Given the description of an element on the screen output the (x, y) to click on. 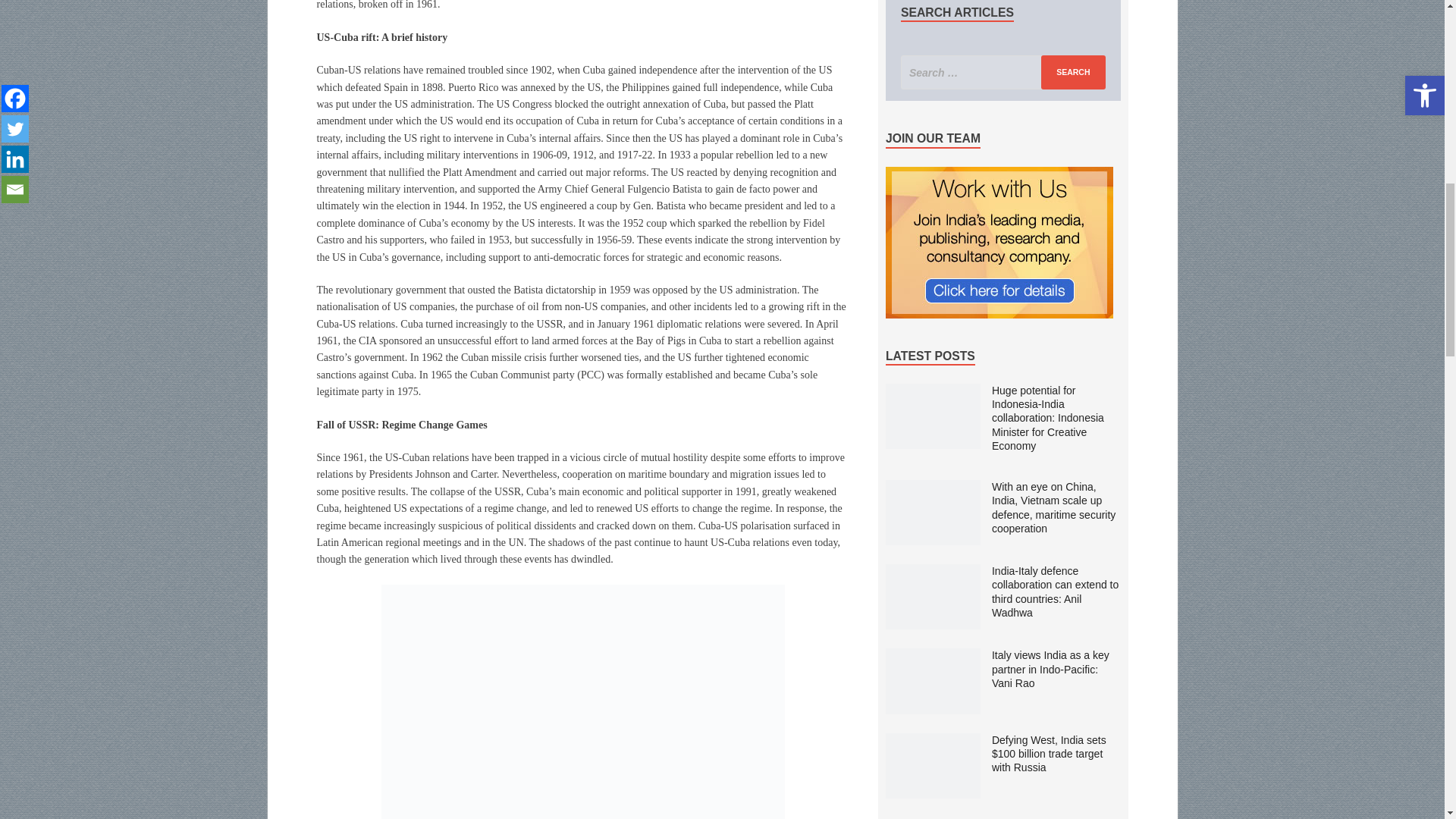
Search (1073, 72)
Search (1073, 72)
